Given the description of an element on the screen output the (x, y) to click on. 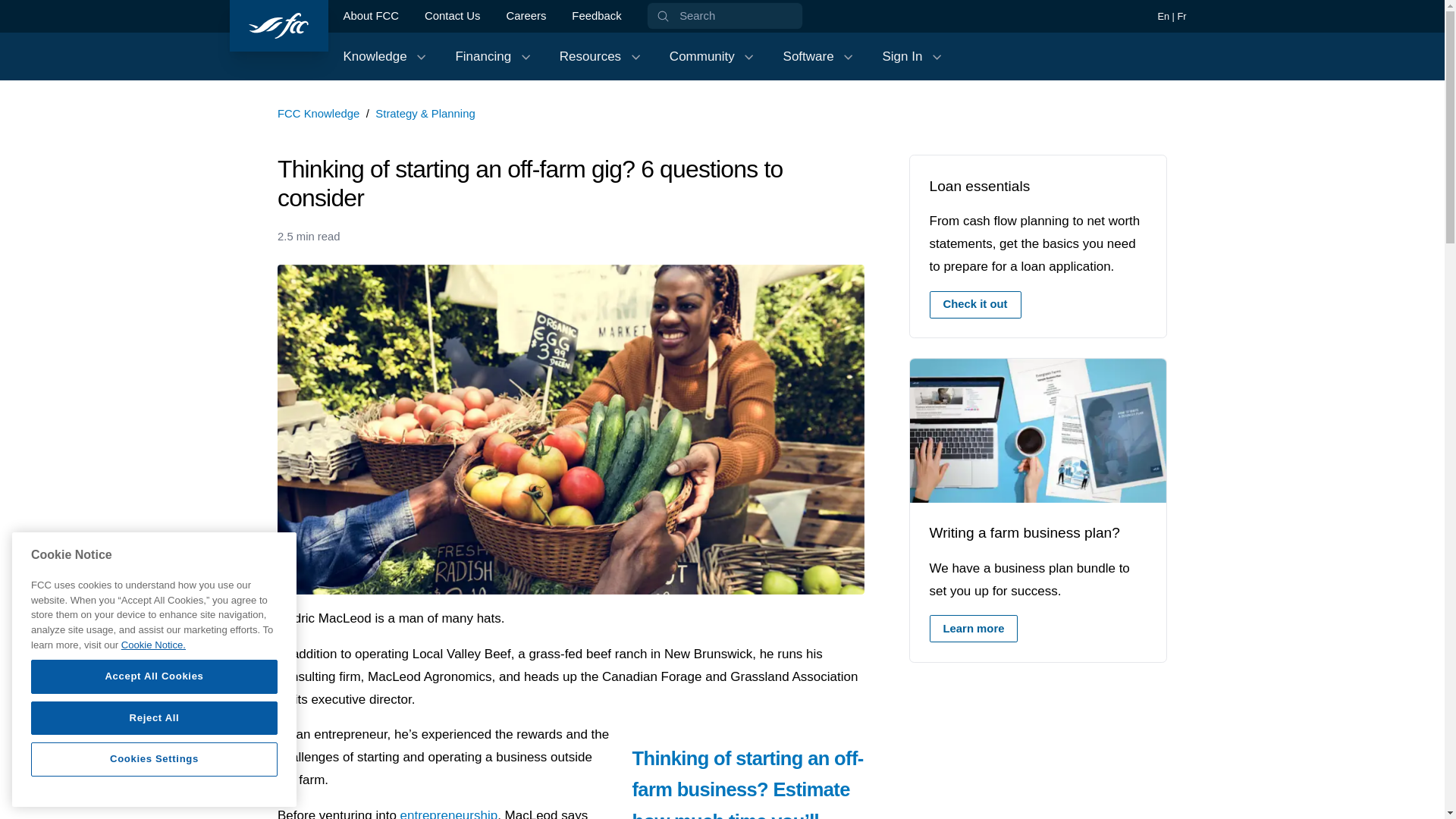
Sign In (913, 56)
FCC (973, 628)
Community (277, 25)
Feedback (976, 304)
FCC Knowledge (713, 56)
About FCC (596, 16)
Knowledge (318, 113)
Contact Us (370, 16)
